Given the description of an element on the screen output the (x, y) to click on. 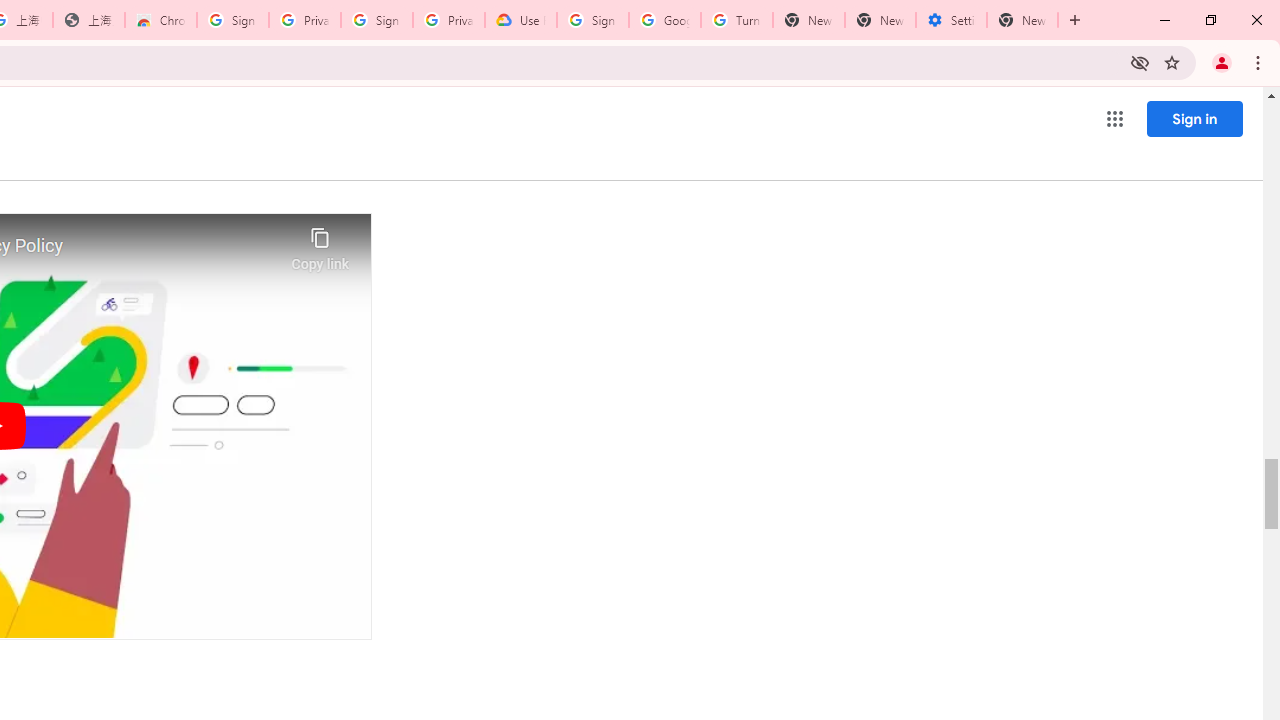
Sign in - Google Accounts (592, 20)
Chrome Web Store - Color themes by Chrome (161, 20)
Settings - System (951, 20)
Turn cookies on or off - Computer - Google Account Help (737, 20)
Sign in - Google Accounts (376, 20)
